Given the description of an element on the screen output the (x, y) to click on. 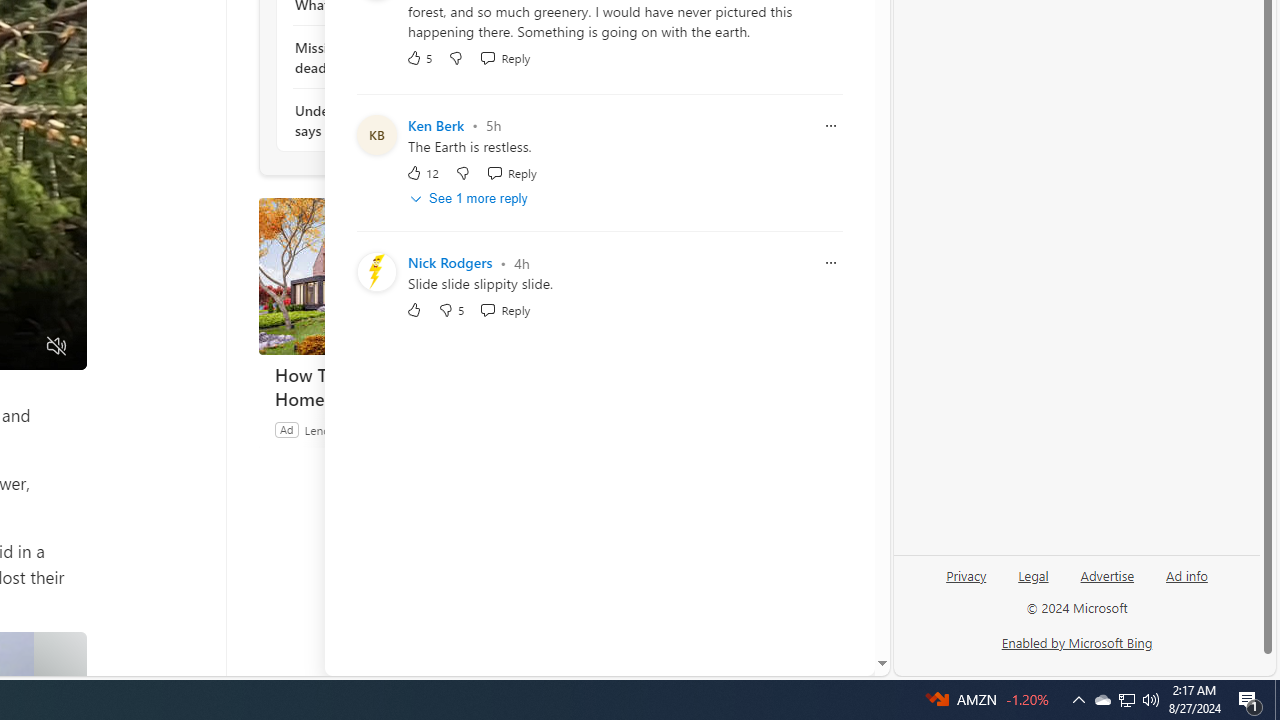
5 Like (419, 56)
Unmute (55, 347)
Report comment (831, 263)
Reply Reply Comment (505, 310)
12 Like (422, 172)
